Given the description of an element on the screen output the (x, y) to click on. 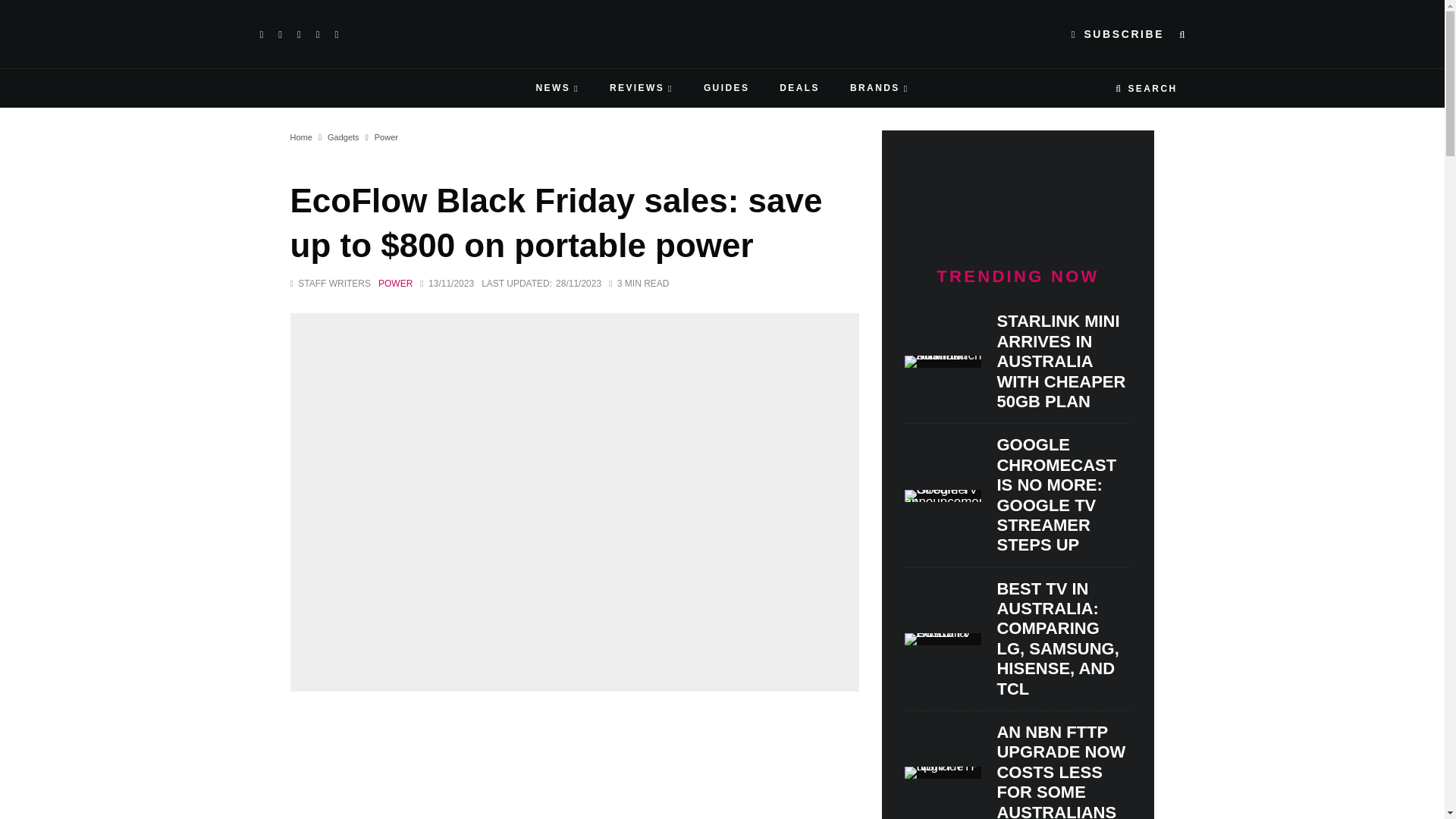
LG C3 OLED TV Australia (942, 639)
NBN FTTP upgrade (942, 772)
Starlink Mini launch Australia (942, 361)
Google TV Streamer announcement (942, 495)
NEWS (557, 87)
SUBSCRIBE (1118, 34)
